Given the description of an element on the screen output the (x, y) to click on. 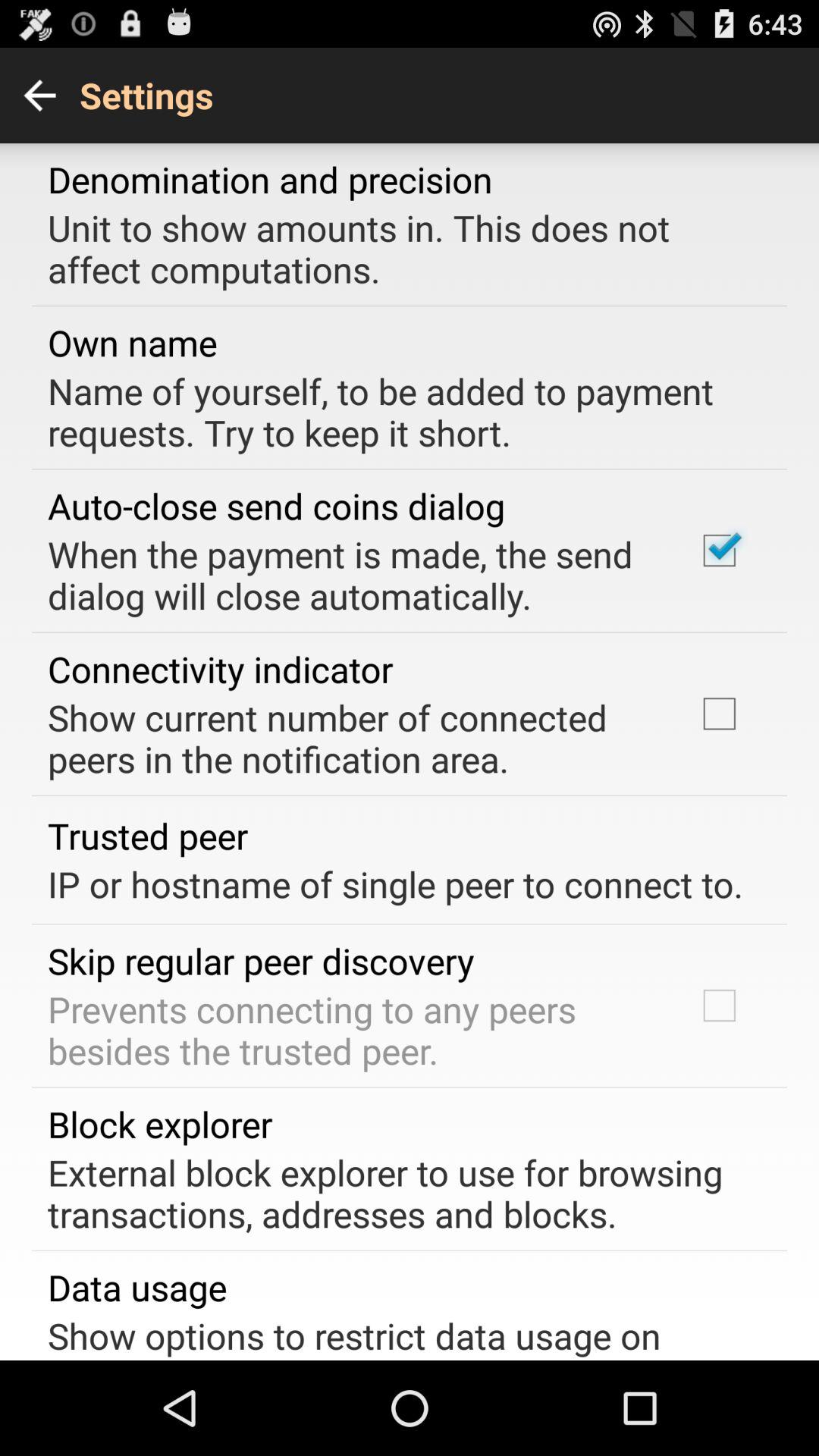
turn on the item above the block explorer icon (351, 1029)
